Given the description of an element on the screen output the (x, y) to click on. 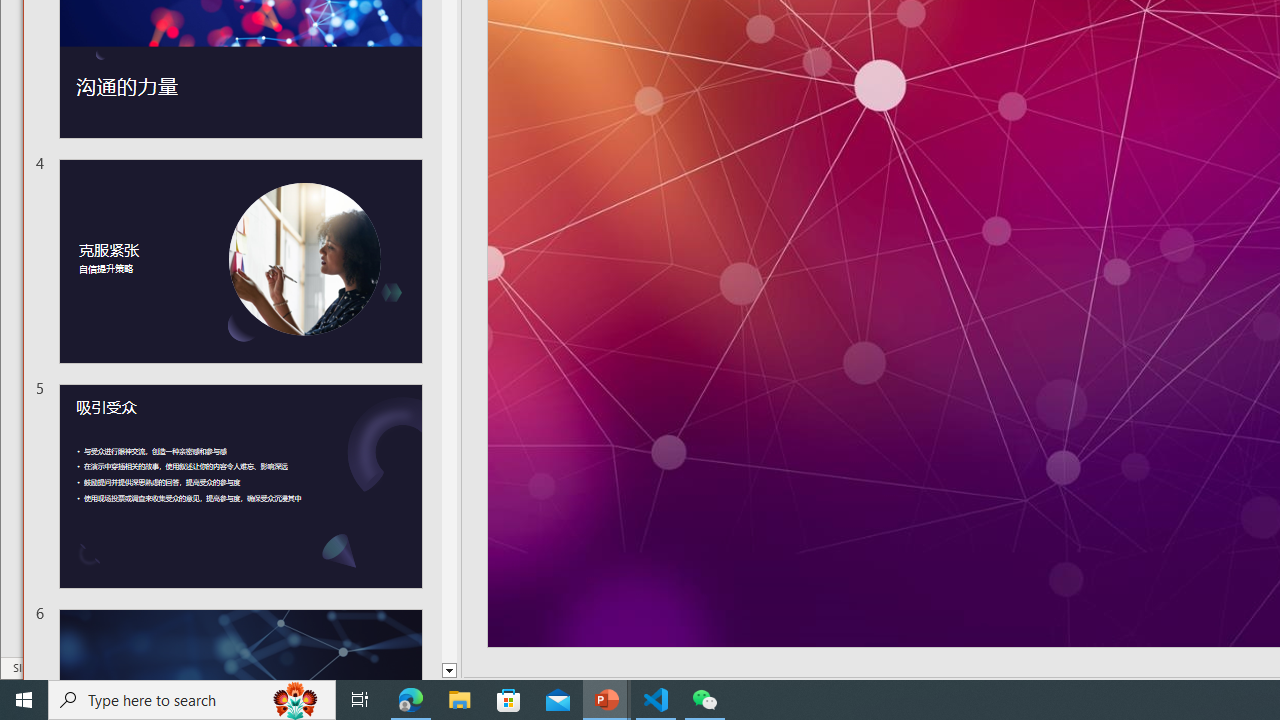
Spell Check  (117, 691)
Accessibility Checker Accessibility: Good to go (409, 691)
